Given the description of an element on the screen output the (x, y) to click on. 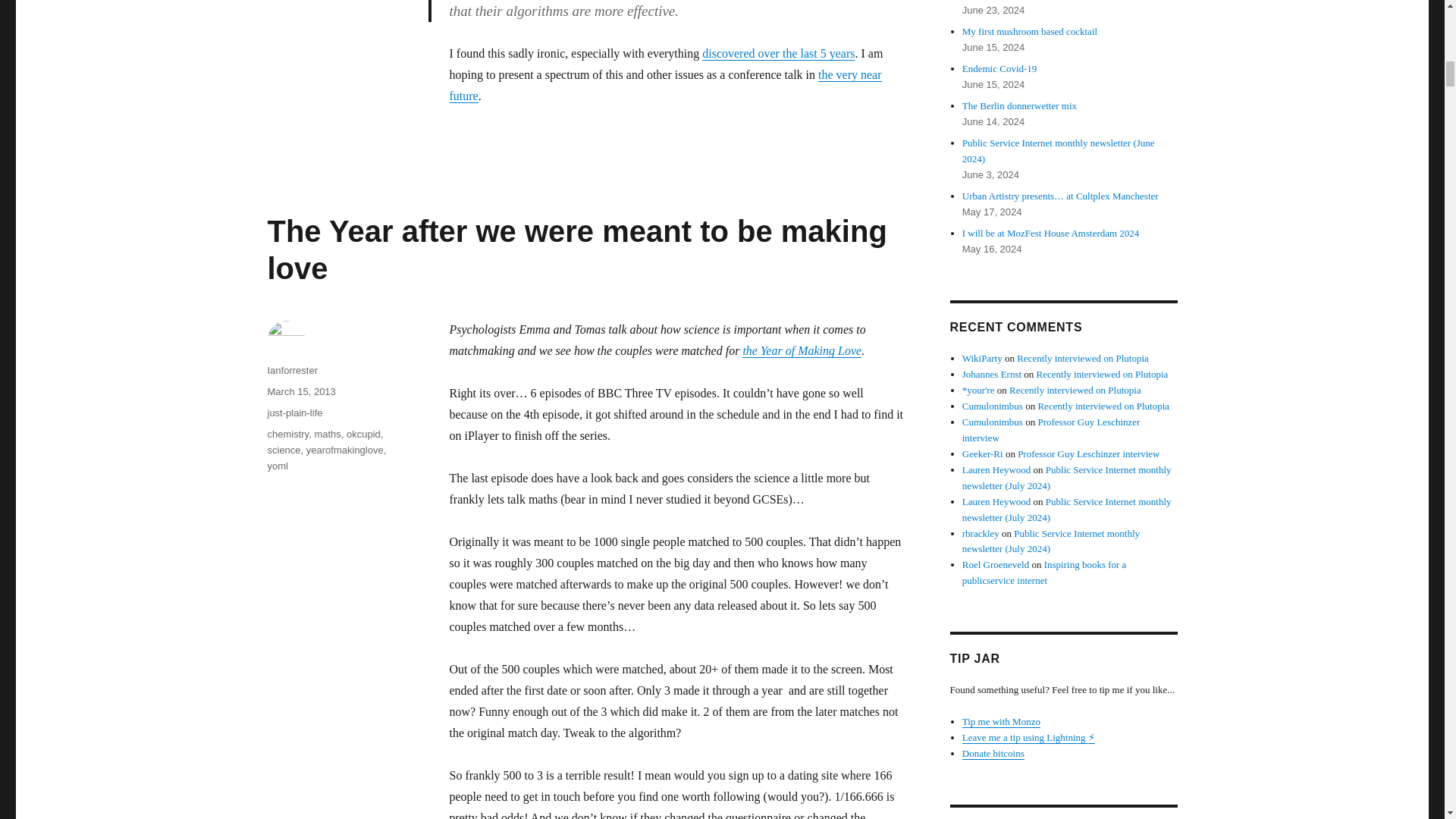
The Year after we were meant to be making love (576, 249)
Ianforrester (291, 369)
discovered over the last 5 years (777, 52)
March 15, 2013 (300, 391)
the Year of Making Love (801, 350)
the very near future (664, 84)
